Given the description of an element on the screen output the (x, y) to click on. 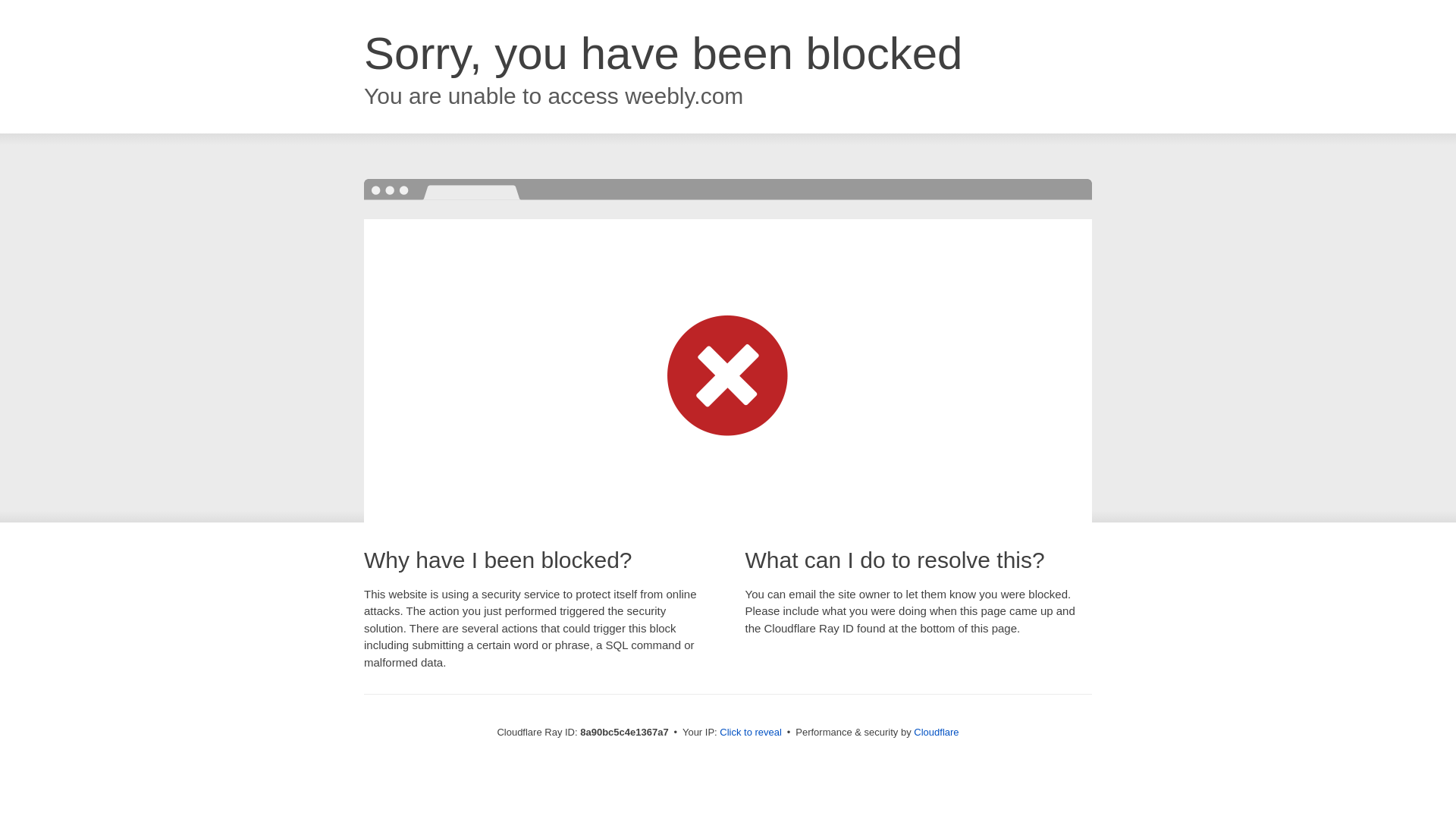
Cloudflare (936, 731)
Click to reveal (750, 732)
